Given the description of an element on the screen output the (x, y) to click on. 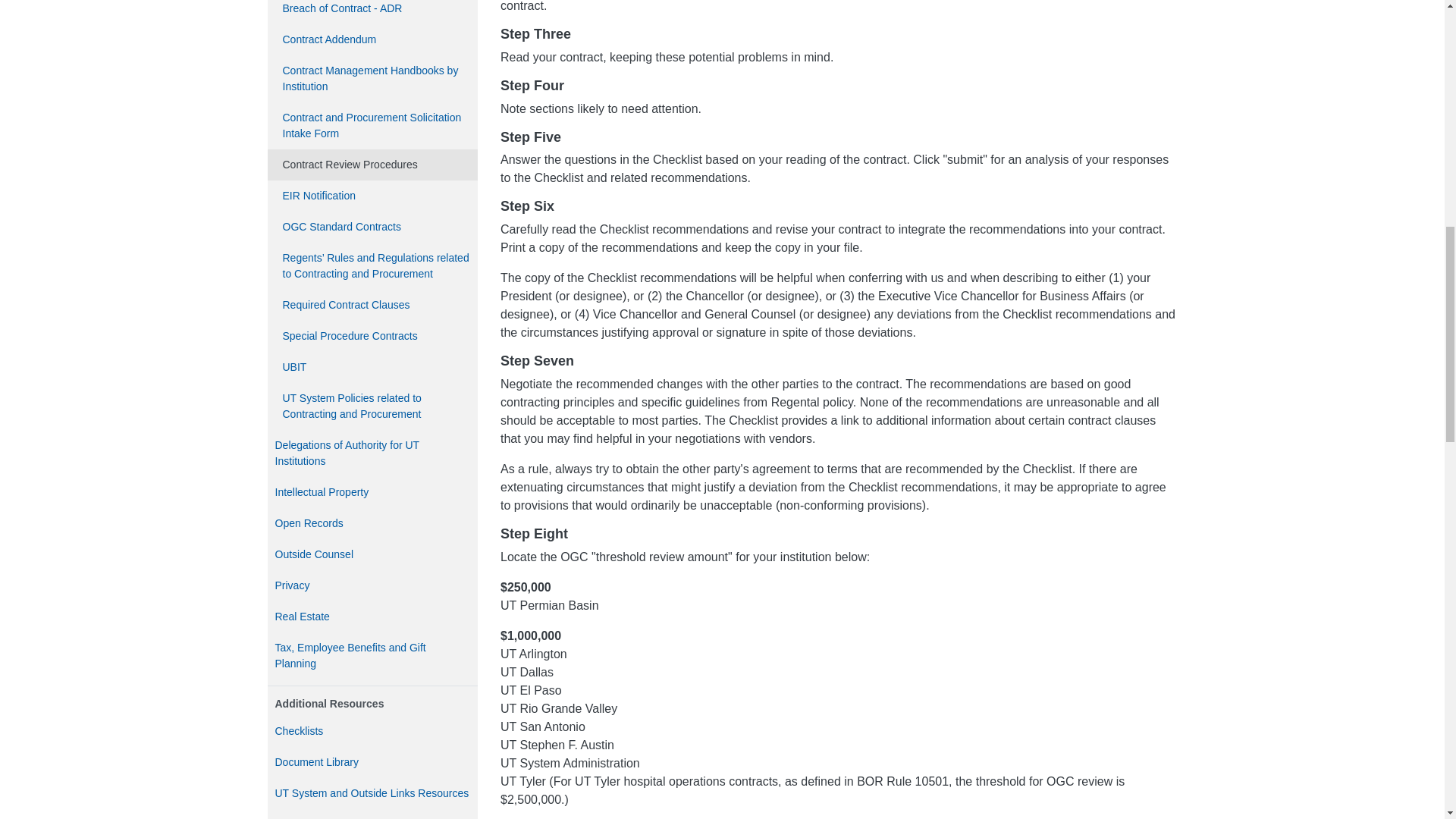
EIR Notification (371, 195)
Contract Addendum (371, 39)
Breach of Contract - ADR (371, 12)
Contract Management Handbooks by Institution (371, 78)
Contract Management Handbooks by Institution (371, 78)
Contract and Procurement Solicitation Intake Form (371, 125)
Contract Review Procedures (371, 164)
Contract Addendum (371, 39)
Contract and Procurement Solicitation Intake Form (371, 125)
OGC Standard Contracts (371, 226)
Required ADR: Do We Have To? (371, 12)
EIR Notification (371, 195)
Contract Review Procedures (371, 164)
